Given the description of an element on the screen output the (x, y) to click on. 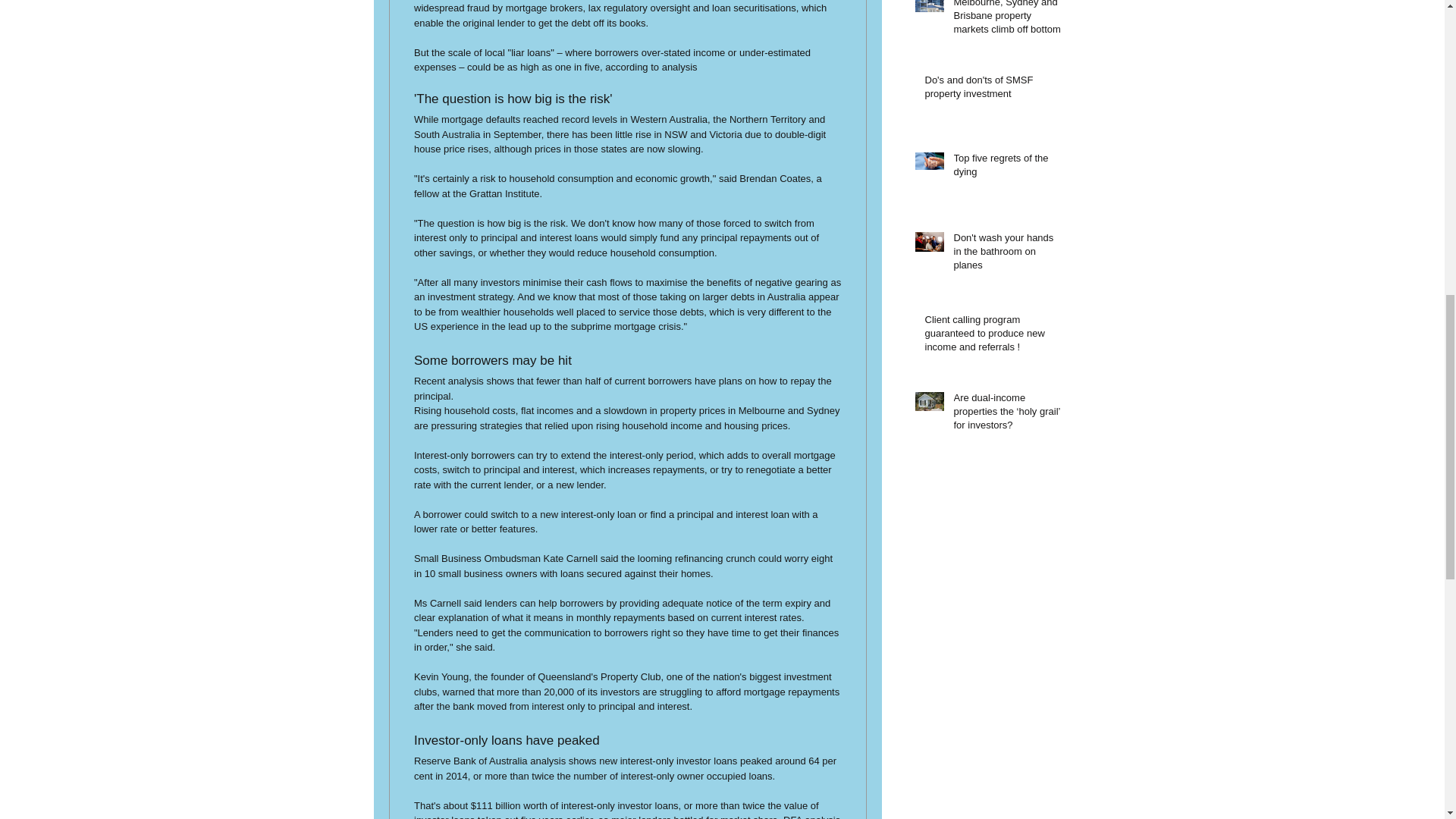
Do's and don'ts of SMSF property investment (993, 90)
Top five regrets of the dying (1007, 168)
Don't wash your hands in the bathroom on planes (1007, 254)
